Given the description of an element on the screen output the (x, y) to click on. 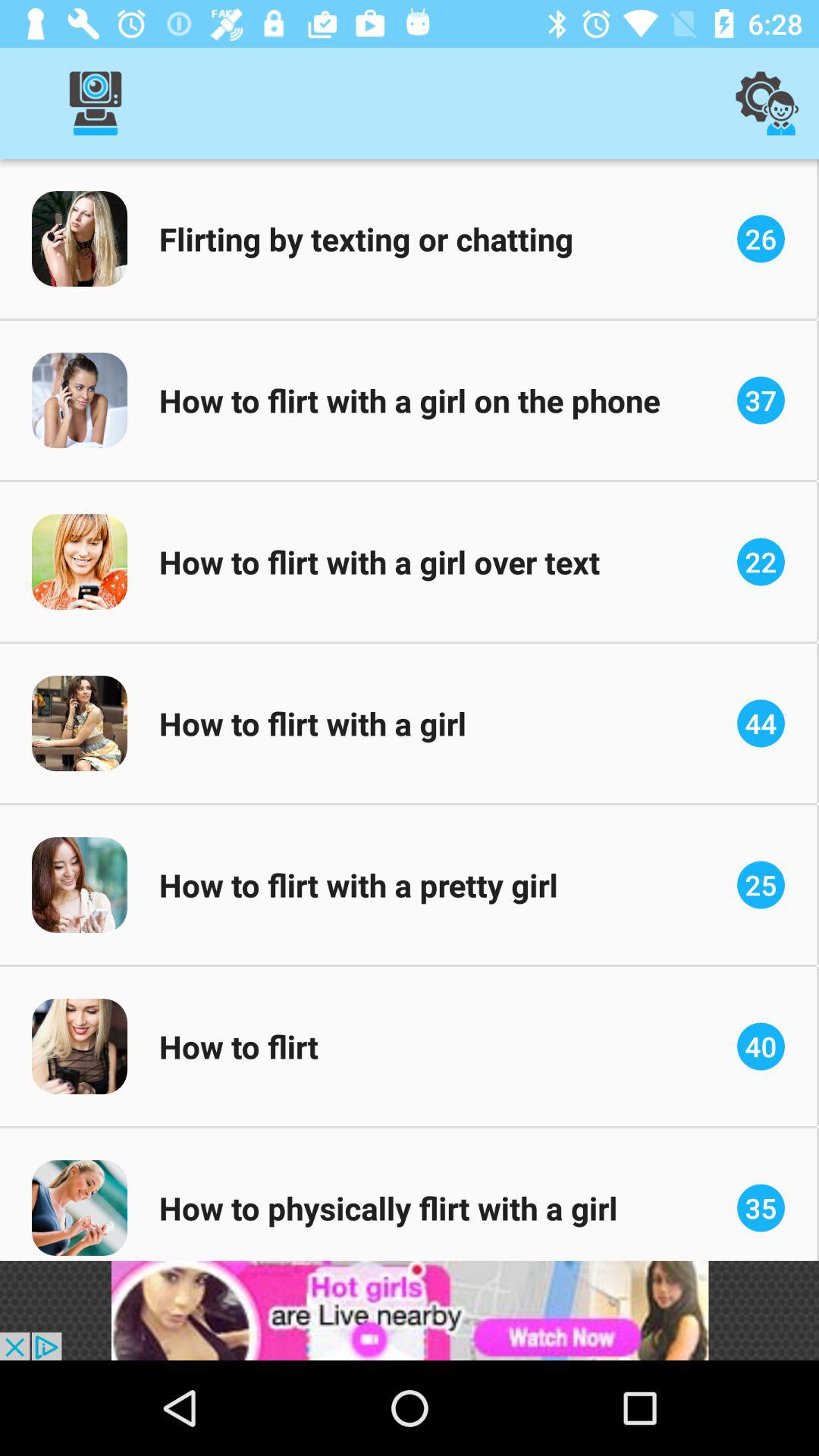
view advertisement (409, 1310)
